Given the description of an element on the screen output the (x, y) to click on. 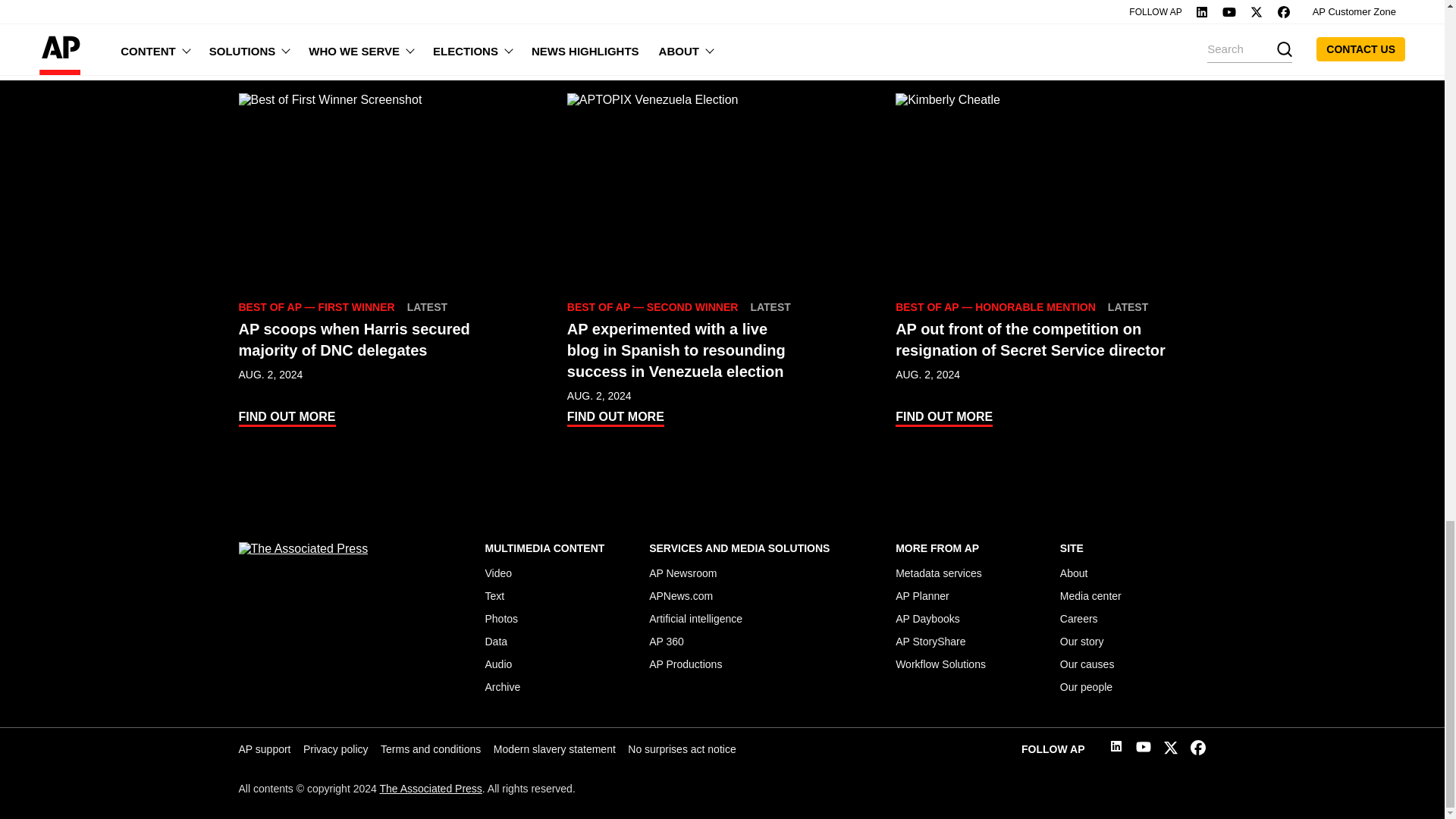
Twitter (1170, 750)
Linkedin (1116, 748)
Youtube (1143, 748)
